Given the description of an element on the screen output the (x, y) to click on. 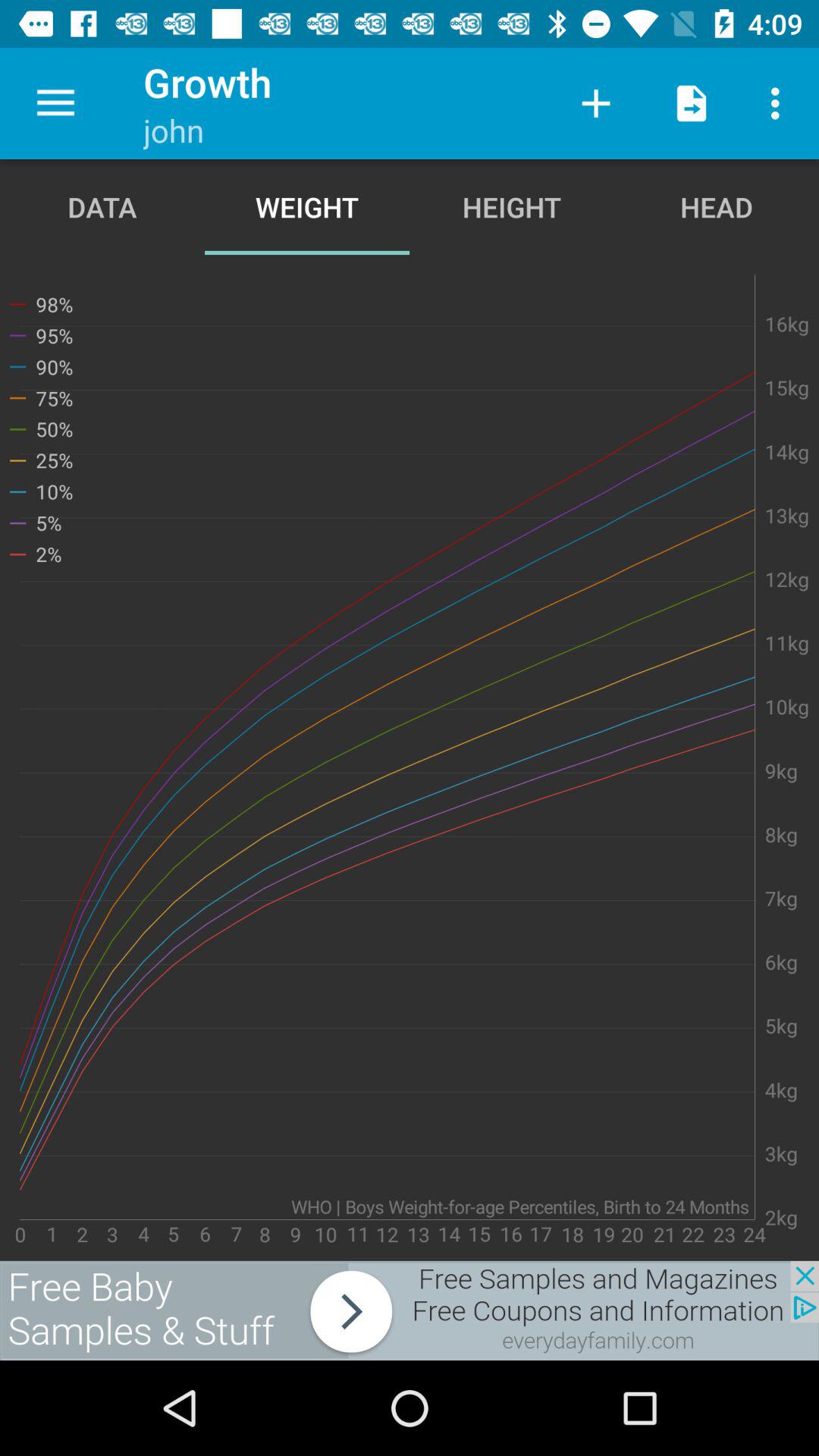
advertisement banner (409, 1310)
